Given the description of an element on the screen output the (x, y) to click on. 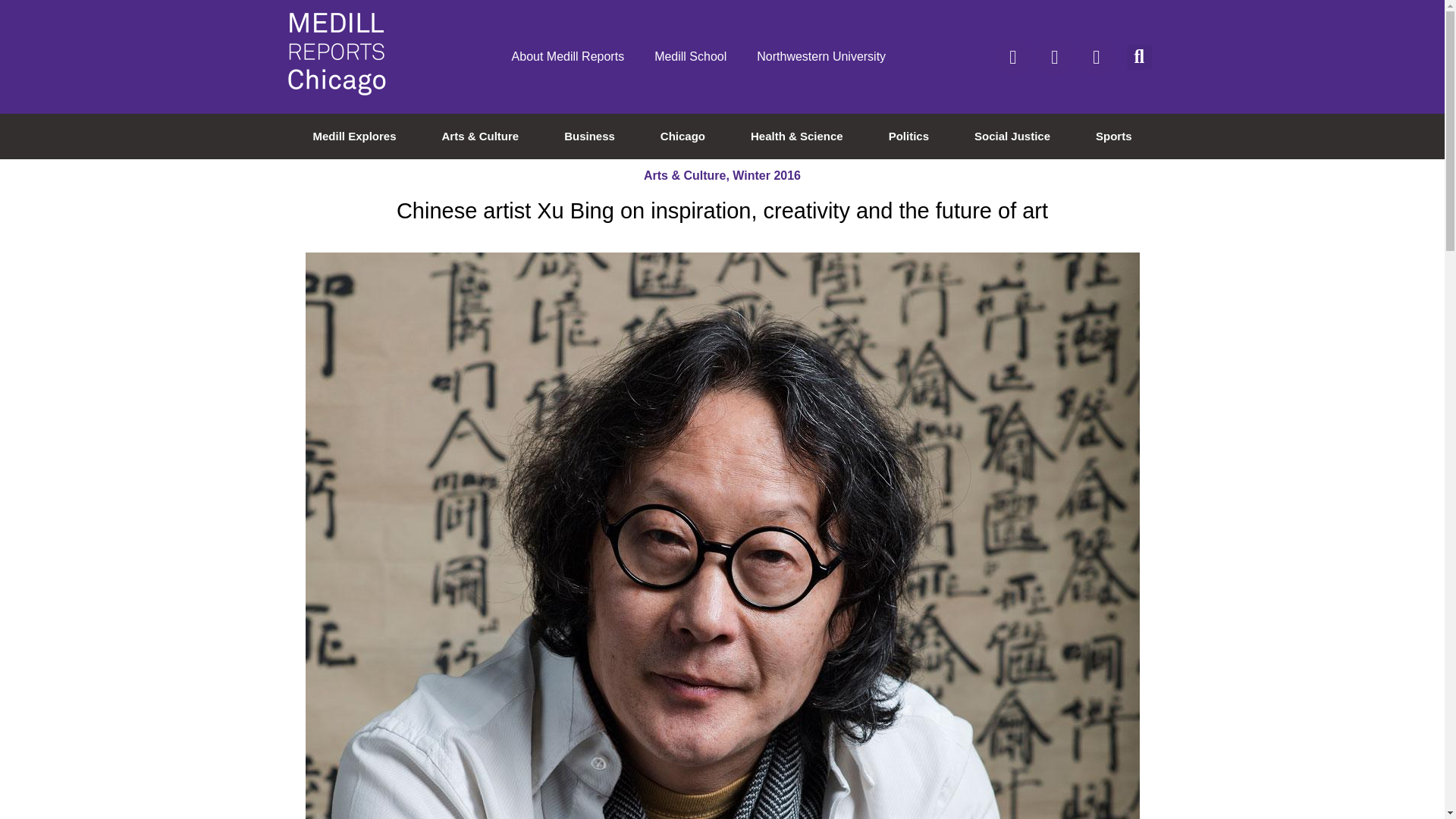
Northwestern University (821, 56)
Medill School (690, 56)
About Medill Reports (568, 56)
Medill Explores (354, 135)
